Given the description of an element on the screen output the (x, y) to click on. 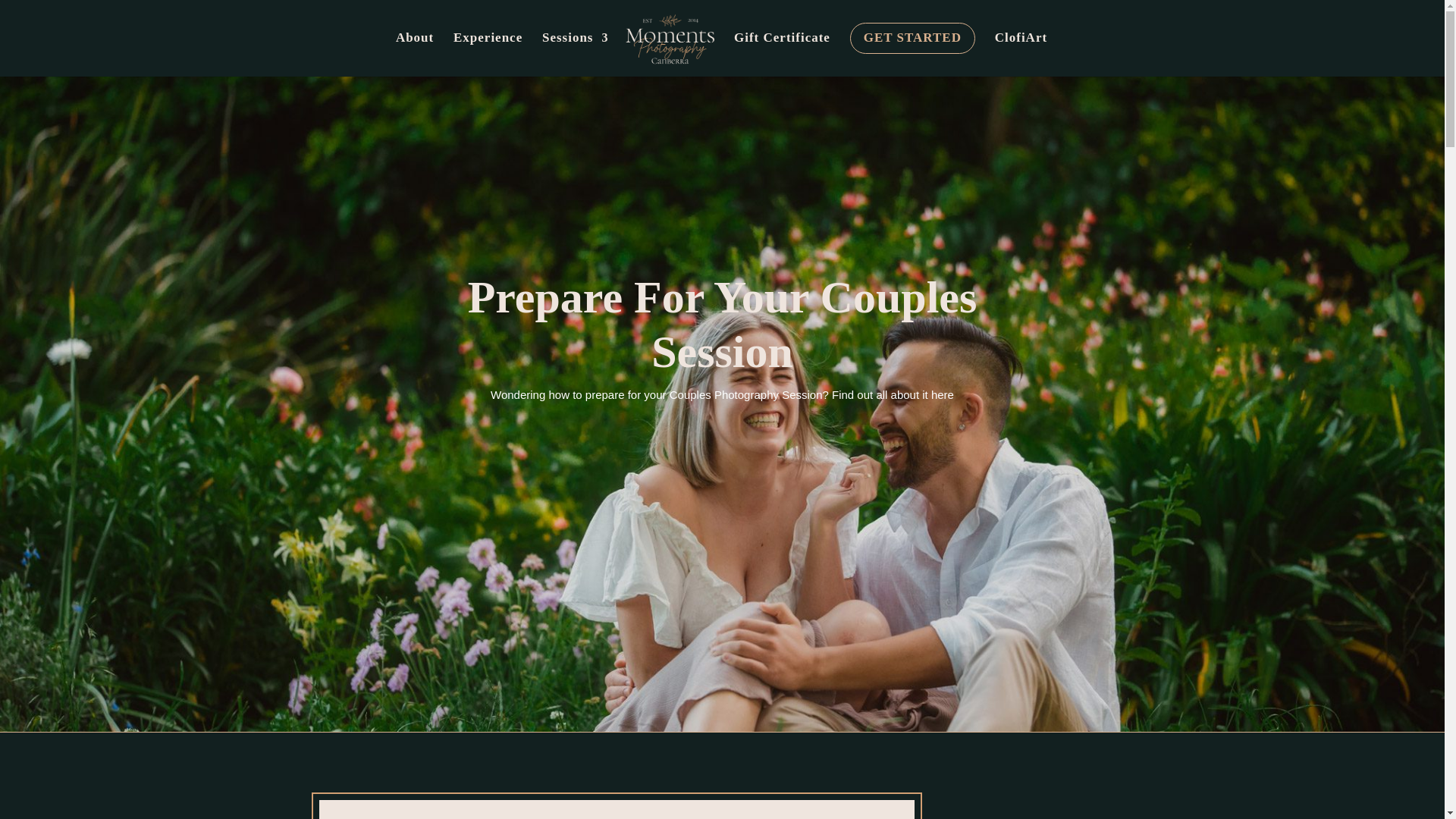
ClofiArt (1020, 49)
GET STARTED (912, 49)
About (414, 49)
Gift Certificate (781, 49)
Sessions (574, 49)
Experience (487, 49)
